Given the description of an element on the screen output the (x, y) to click on. 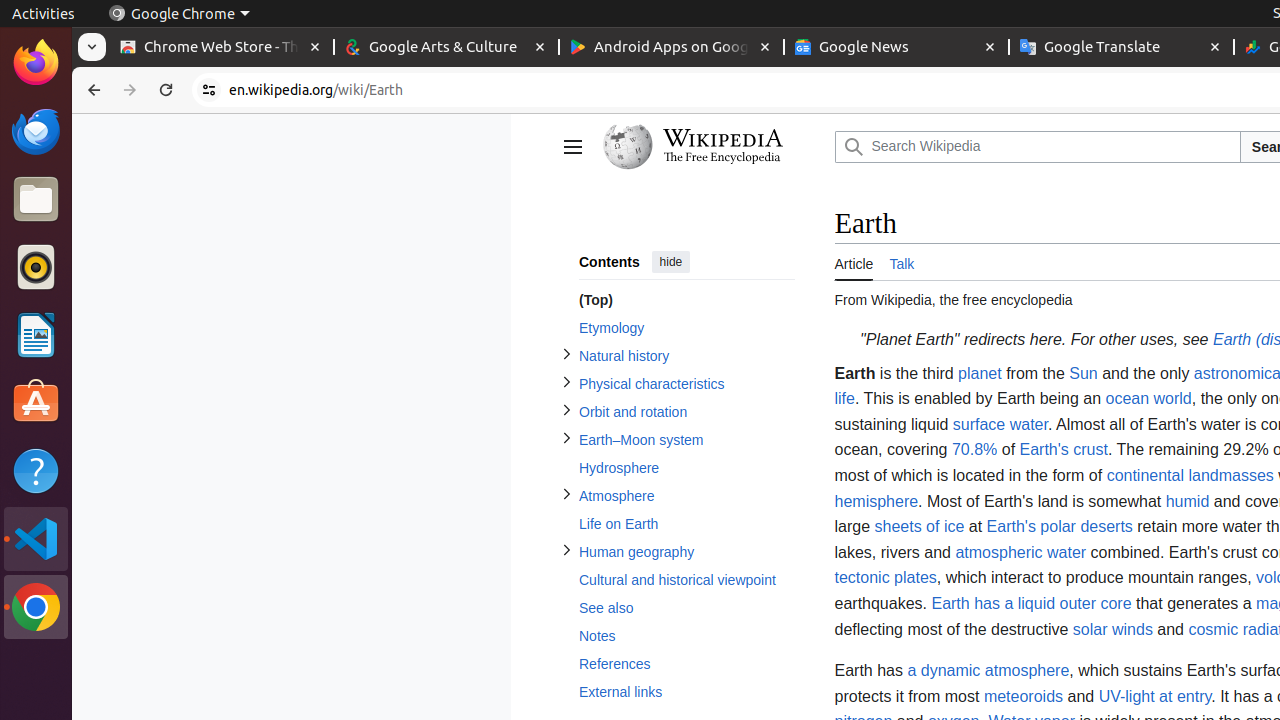
ocean world Element type: link (1148, 399)
